Given the description of an element on the screen output the (x, y) to click on. 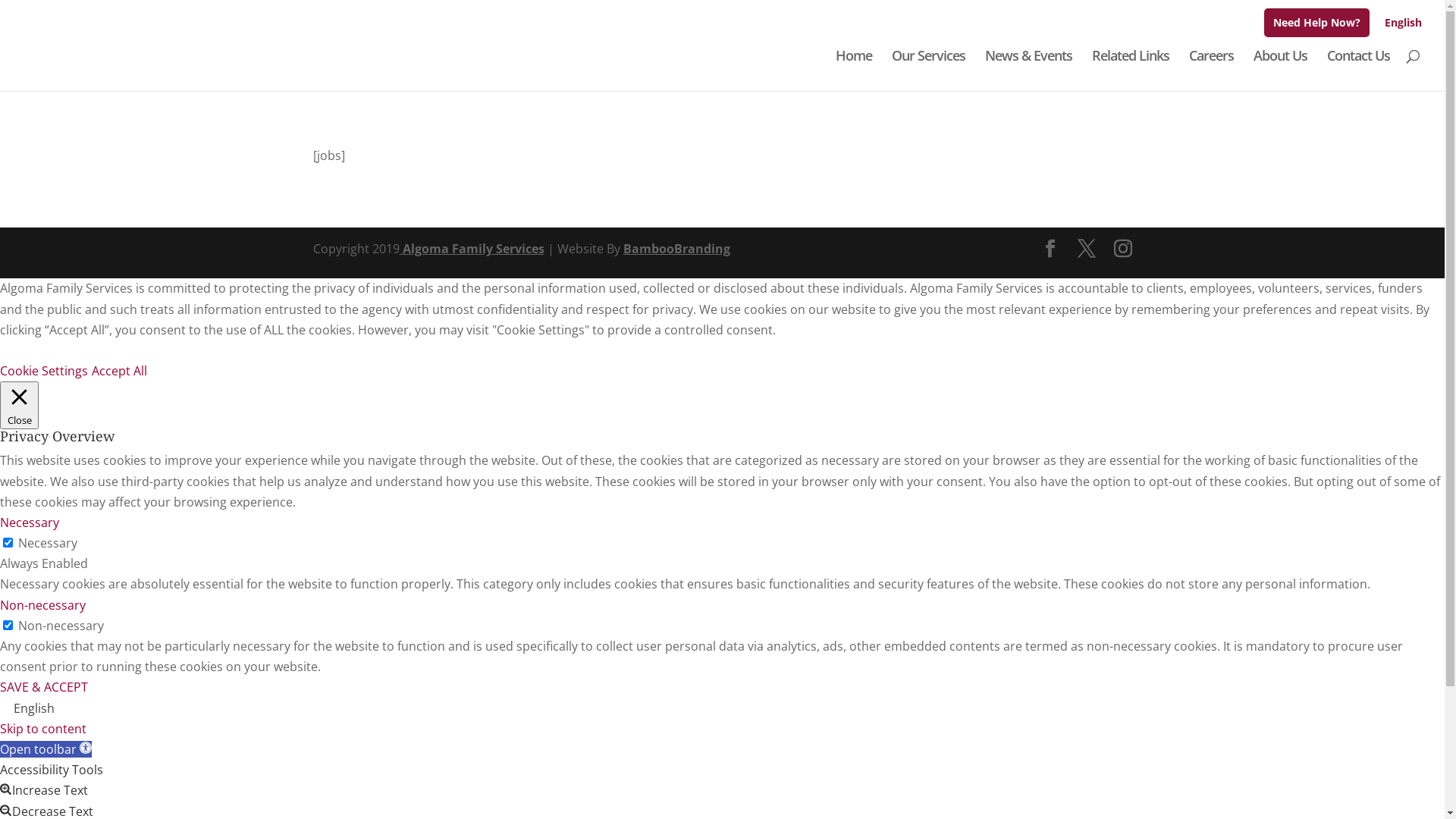
Open toolbar Accessibility Tools Element type: text (45, 748)
News & Events Element type: text (1028, 70)
Accept All Element type: text (119, 370)
Non-necessary Element type: text (42, 604)
Algoma Family Services Element type: text (470, 248)
Contact Us Element type: text (1358, 70)
Necessary Element type: text (29, 522)
Cookie Settings Element type: text (43, 370)
SAVE & ACCEPT Element type: text (43, 686)
BambooBranding Element type: text (676, 248)
Need Help Now? Element type: text (1316, 21)
Careers Element type: text (1211, 70)
English Element type: text (1402, 25)
Increase TextIncrease Text Element type: text (43, 789)
Home Element type: text (853, 70)
Related Links Element type: text (1130, 70)
English Element type: text (27, 707)
Our Services Element type: text (928, 70)
Close Element type: text (19, 405)
Skip to content Element type: text (43, 728)
About Us Element type: text (1280, 70)
